Given the description of an element on the screen output the (x, y) to click on. 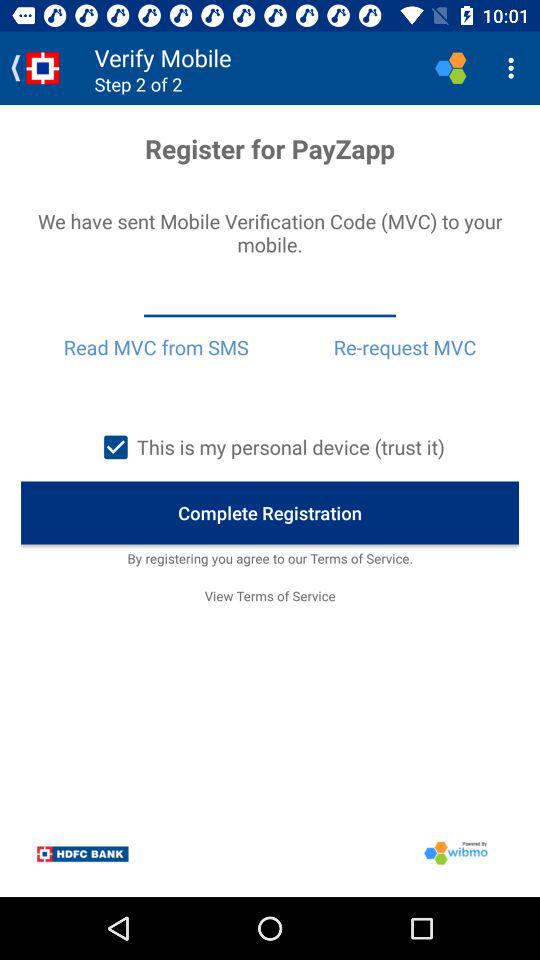
choose icon to the left of the re-request mvc item (155, 347)
